Given the description of an element on the screen output the (x, y) to click on. 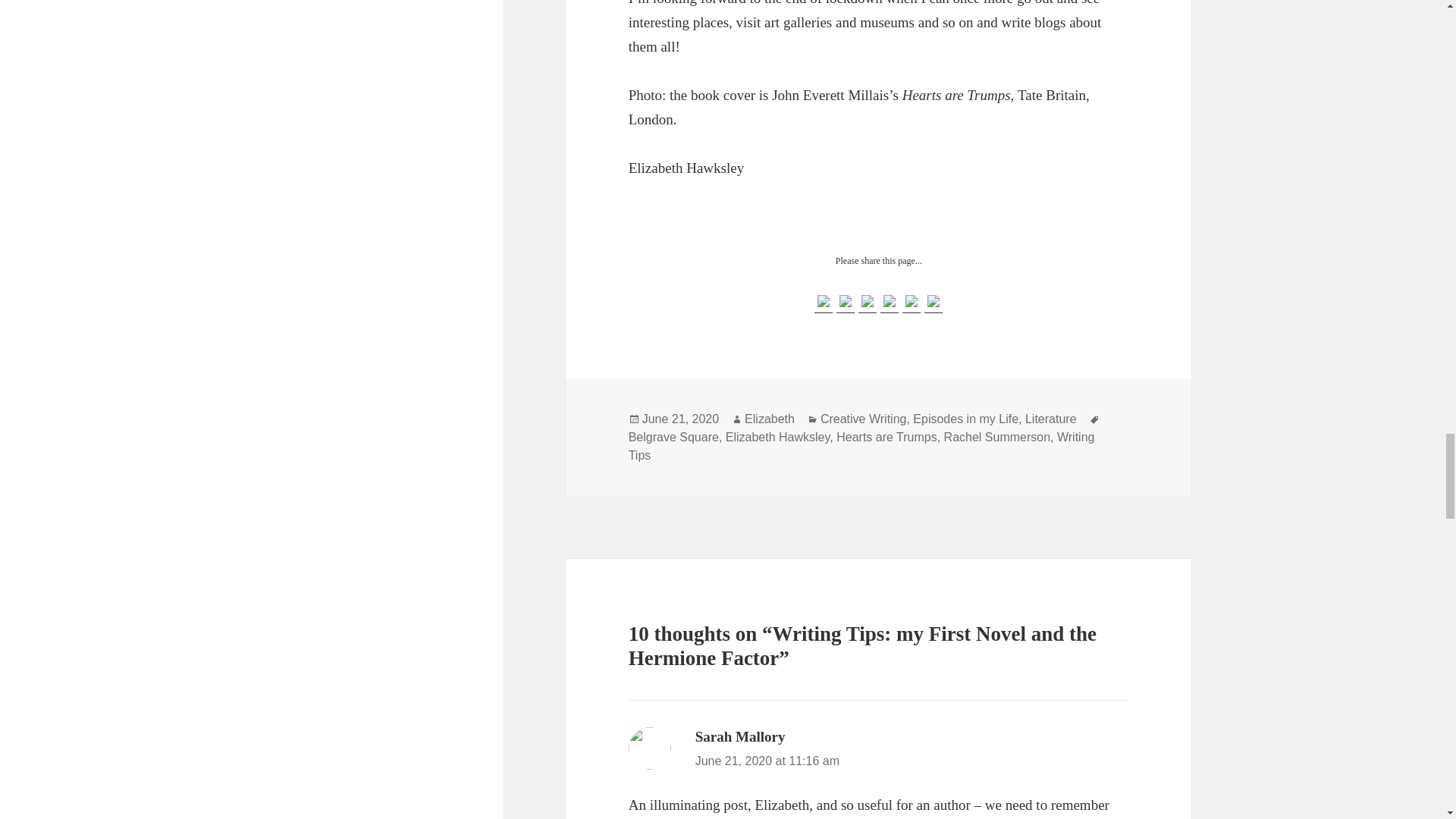
Share by email (933, 303)
Share on tumblr (911, 300)
Share on Facebook (822, 300)
Share on tumblr (911, 303)
Share on Reddit (867, 303)
Share on Facebook (822, 303)
Share on Reddit (867, 300)
Share by email (933, 300)
Share on Twitter (844, 303)
Pin it with Pinterest (889, 303)
